Given the description of an element on the screen output the (x, y) to click on. 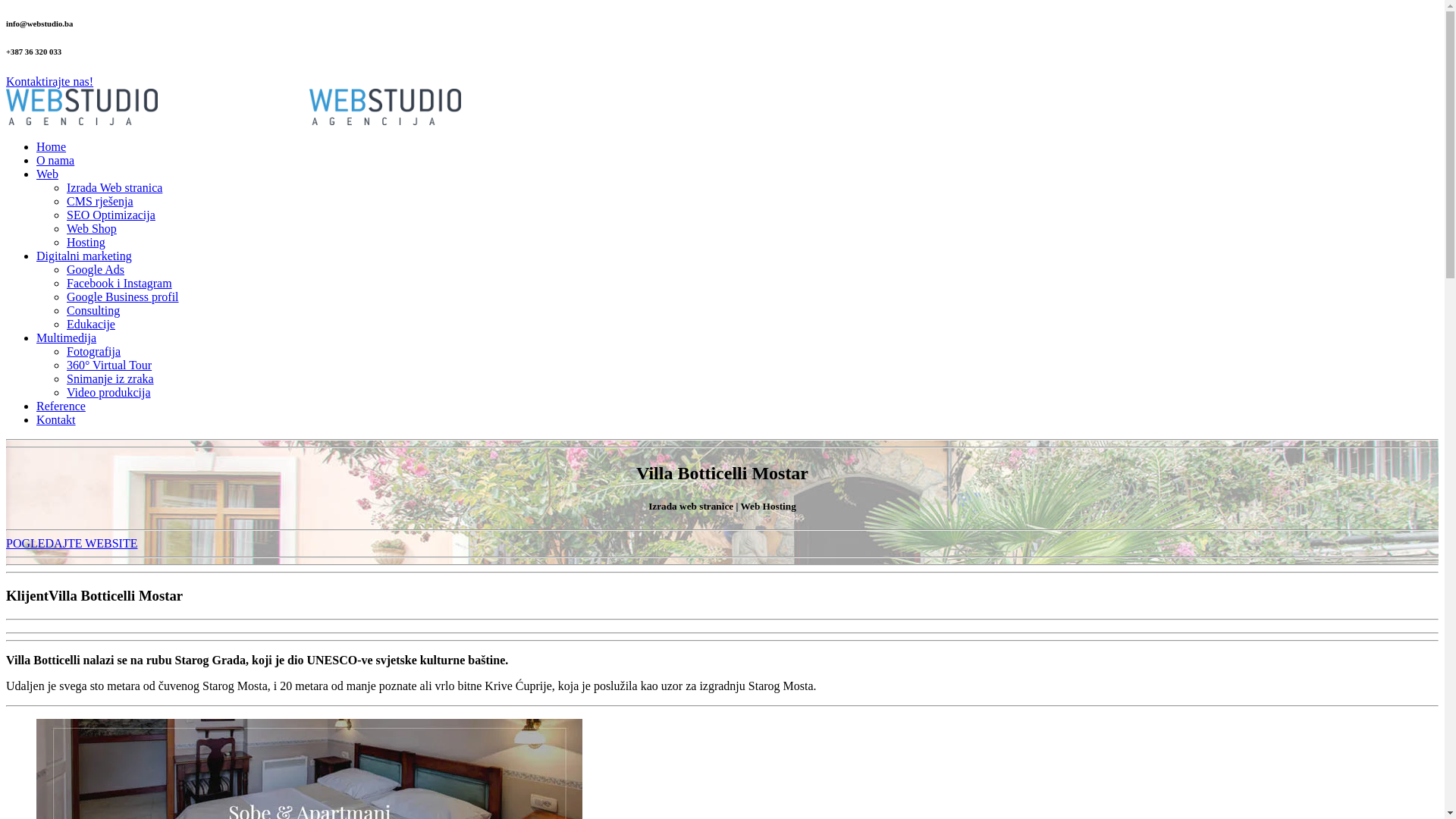
Facebook i Instagram Element type: text (119, 282)
SEO Optimizacija Element type: text (110, 214)
Reference Element type: text (60, 405)
Google Ads Element type: text (95, 269)
Kontakt Element type: text (55, 419)
Digitalni marketing Element type: text (83, 255)
Multimedija Element type: text (66, 337)
O nama Element type: text (55, 159)
Hosting Element type: text (85, 241)
POGLEDAJTE WEBSITE Element type: text (71, 542)
Web Shop Element type: text (91, 228)
Home Element type: text (50, 146)
Web Element type: text (47, 173)
Fotografija Element type: text (93, 351)
Edukacije Element type: text (90, 323)
Consulting Element type: text (92, 310)
Google Business profil Element type: text (122, 296)
Snimanje iz zraka Element type: text (109, 378)
Izrada Web stranica Element type: text (114, 187)
Kontaktirajte nas! Element type: text (49, 81)
Video produkcija Element type: text (108, 391)
